Given the description of an element on the screen output the (x, y) to click on. 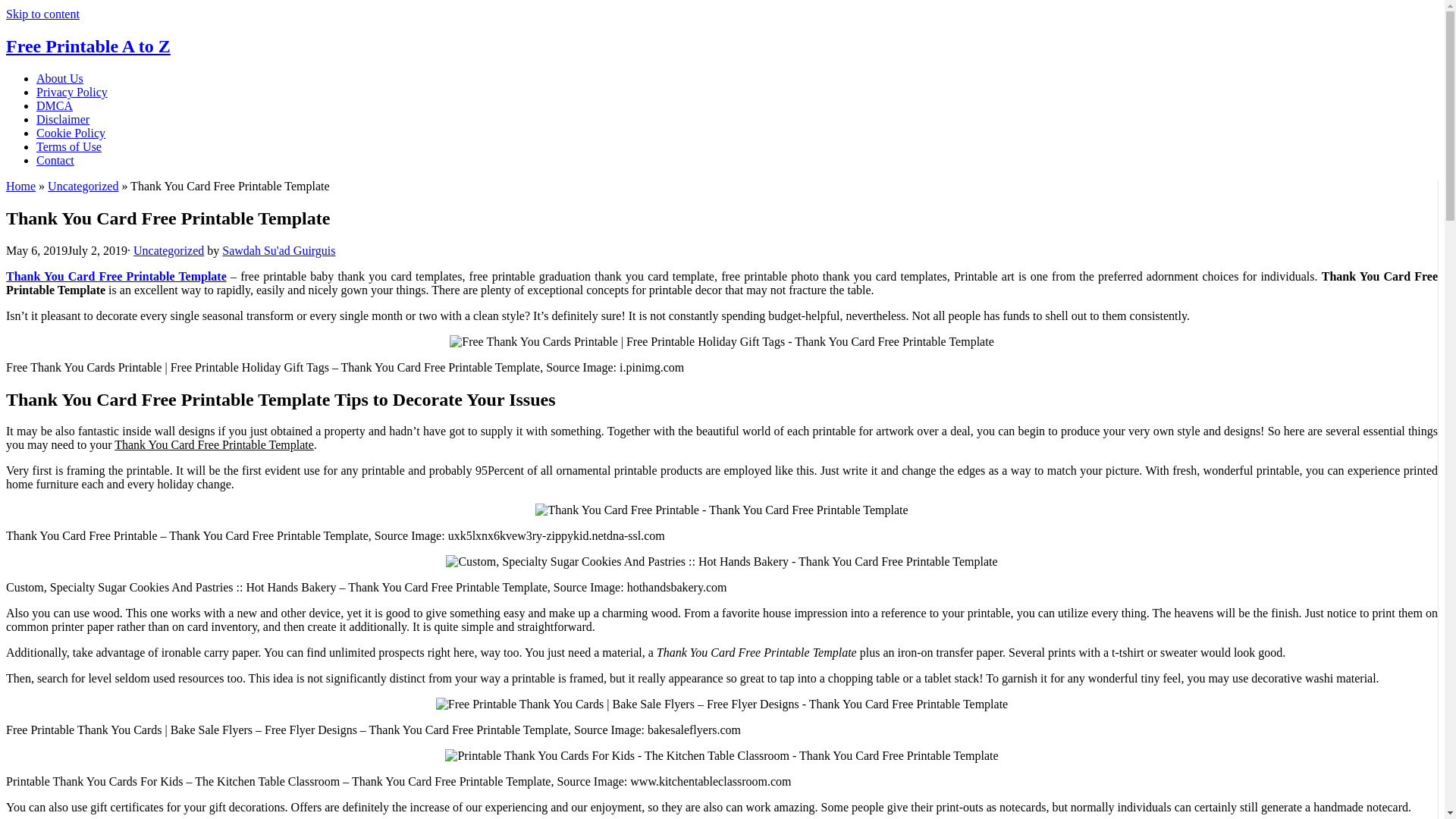
Contact (55, 160)
Home (19, 185)
Thank You Card Free Printable Template (116, 276)
Free Printable A to Z (87, 46)
About Us (59, 78)
Sawdah Su'ad Guirguis (278, 250)
Terms of Use (68, 146)
DMCA (54, 105)
Disclaimer (62, 119)
Uncategorized (82, 185)
